Given the description of an element on the screen output the (x, y) to click on. 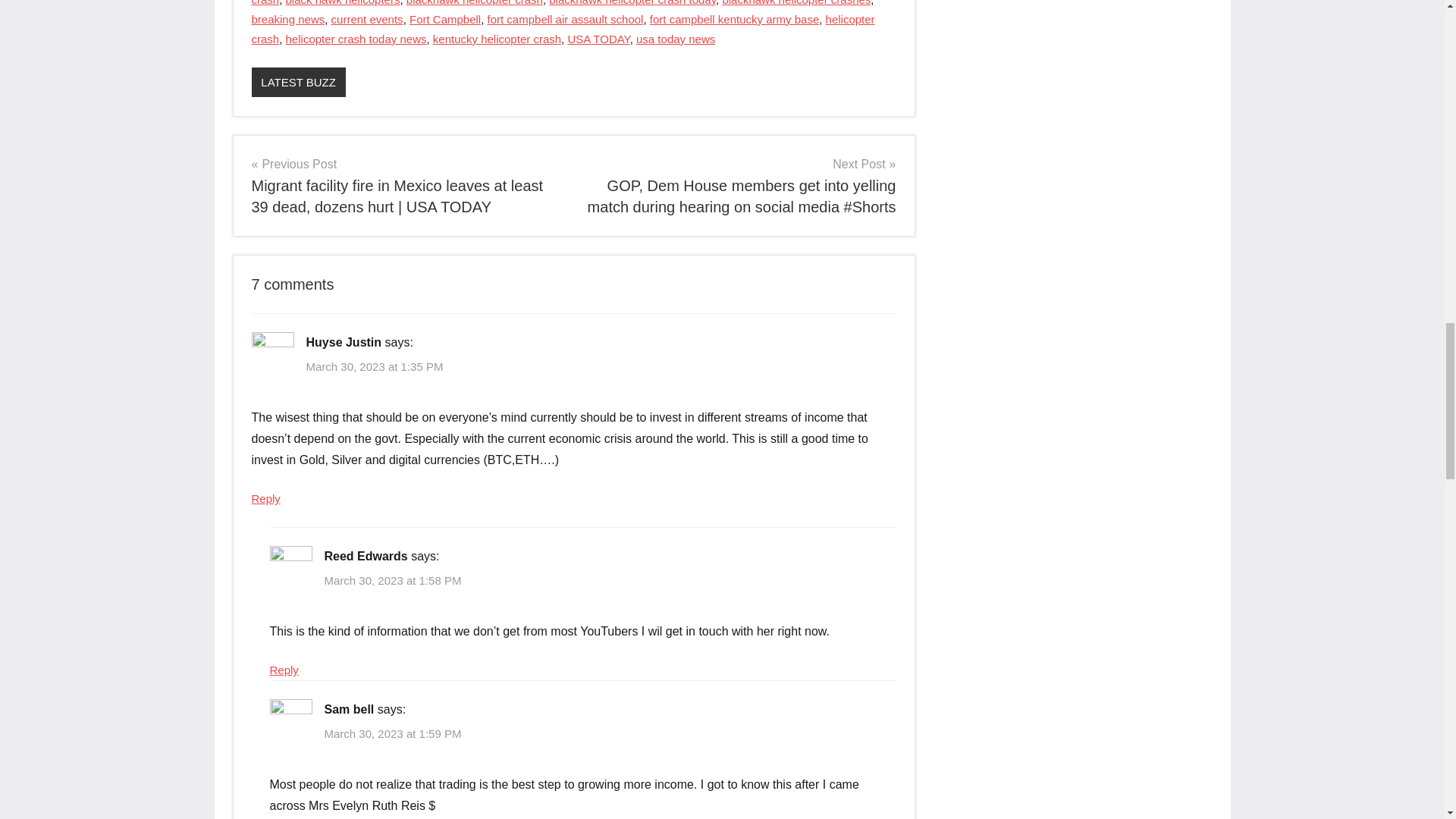
March 30, 2023 at 1:35 PM (374, 366)
Fort Campbell (444, 19)
Reply (266, 498)
helicopter crash today news (355, 38)
usa today news (675, 38)
breaking news (287, 19)
current events (367, 19)
black hawk helicopters (342, 2)
blackhawk helicopter crash today (632, 2)
kentucky helicopter crash (496, 38)
